Given the description of an element on the screen output the (x, y) to click on. 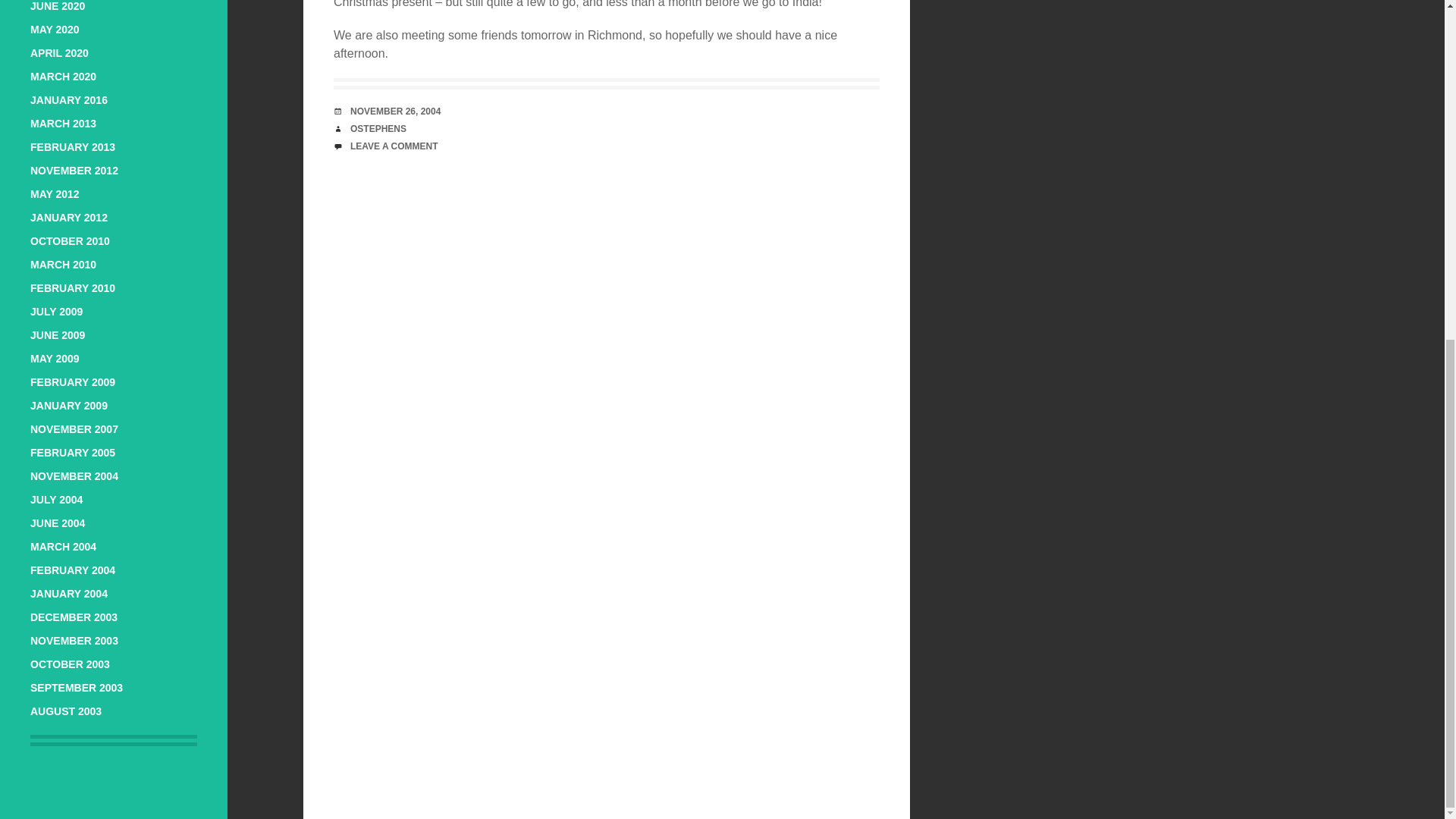
FEBRUARY 2005 (72, 452)
MARCH 2010 (63, 264)
NOVEMBER 2007 (73, 428)
NOVEMBER 2004 (73, 476)
MARCH 2020 (63, 76)
FEBRUARY 2009 (72, 381)
View all posts by ostephens (378, 128)
MAY 2012 (55, 193)
FEBRUARY 2004 (72, 570)
JANUARY 2012 (68, 217)
